Given the description of an element on the screen output the (x, y) to click on. 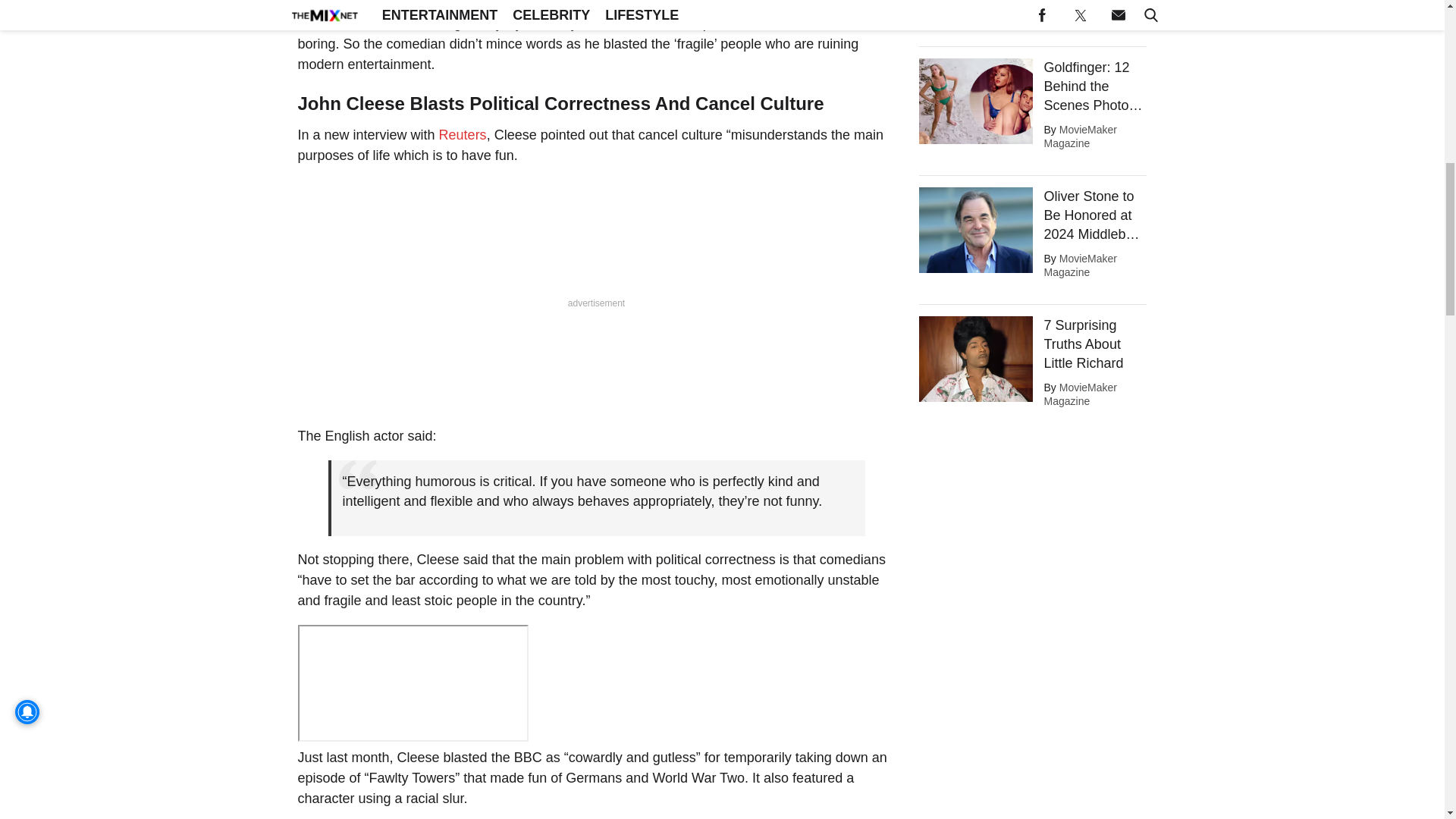
Reuters (462, 134)
